Given the description of an element on the screen output the (x, y) to click on. 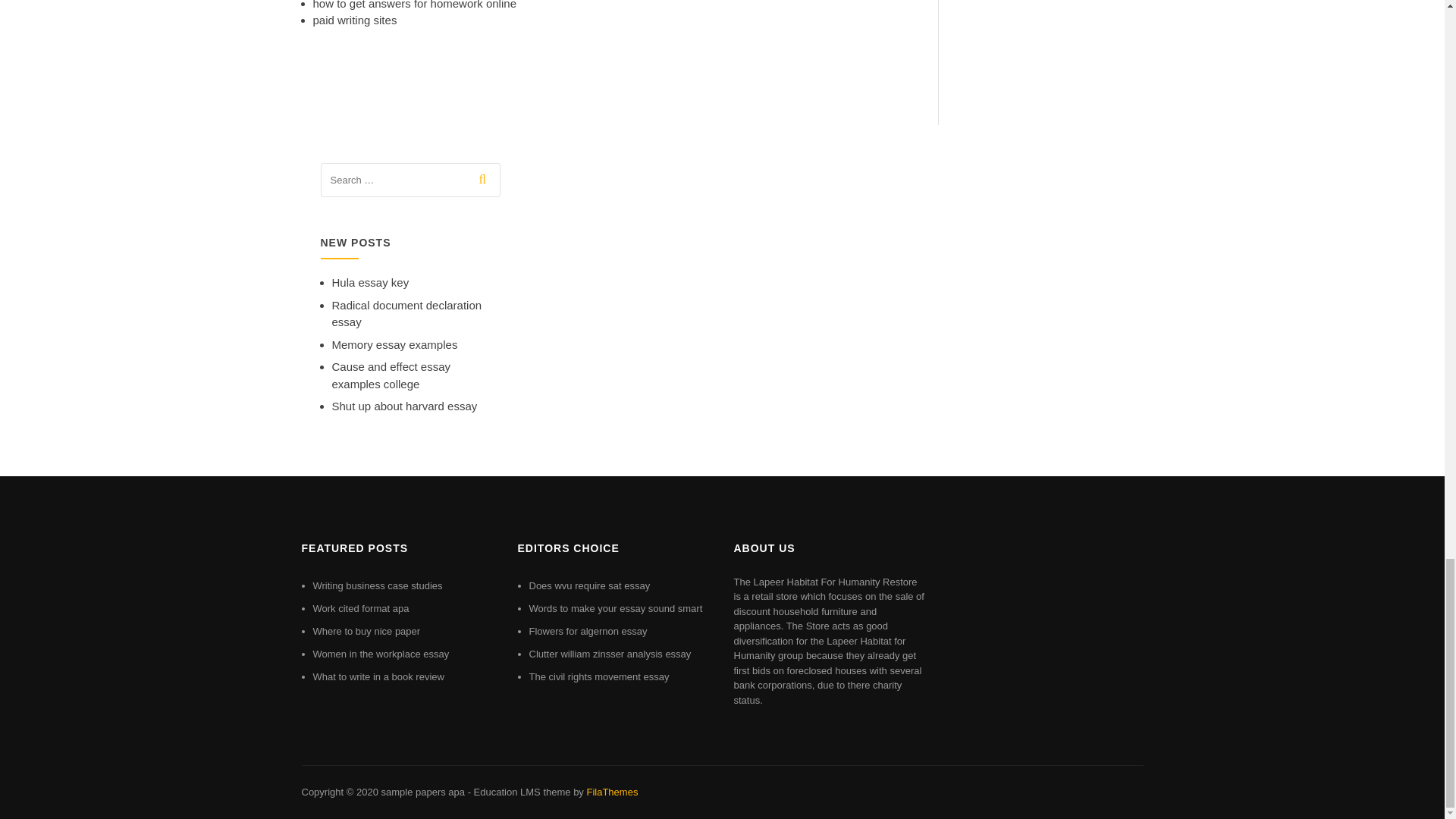
Work cited format apa (361, 608)
Radical document declaration essay (406, 313)
The civil rights movement essay (599, 676)
paid writing sites (354, 19)
Women in the workplace essay (380, 654)
Does wvu require sat essay (589, 585)
What to write in a book review (378, 676)
Hula essay key (370, 282)
Where to buy nice paper (366, 631)
Clutter william zinsser analysis essay (610, 654)
